Given the description of an element on the screen output the (x, y) to click on. 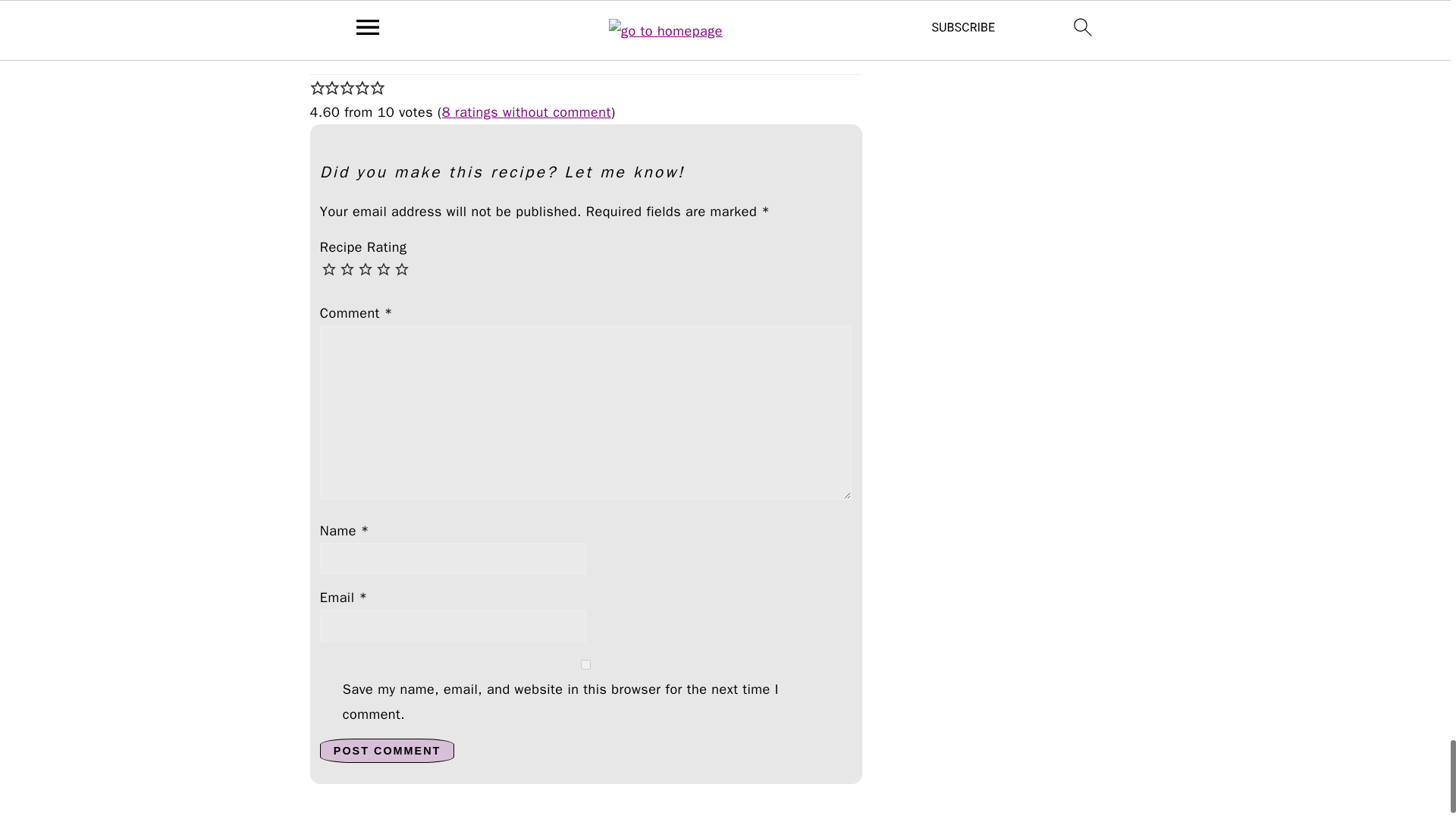
yes (585, 664)
Post Comment (387, 750)
